Given the description of an element on the screen output the (x, y) to click on. 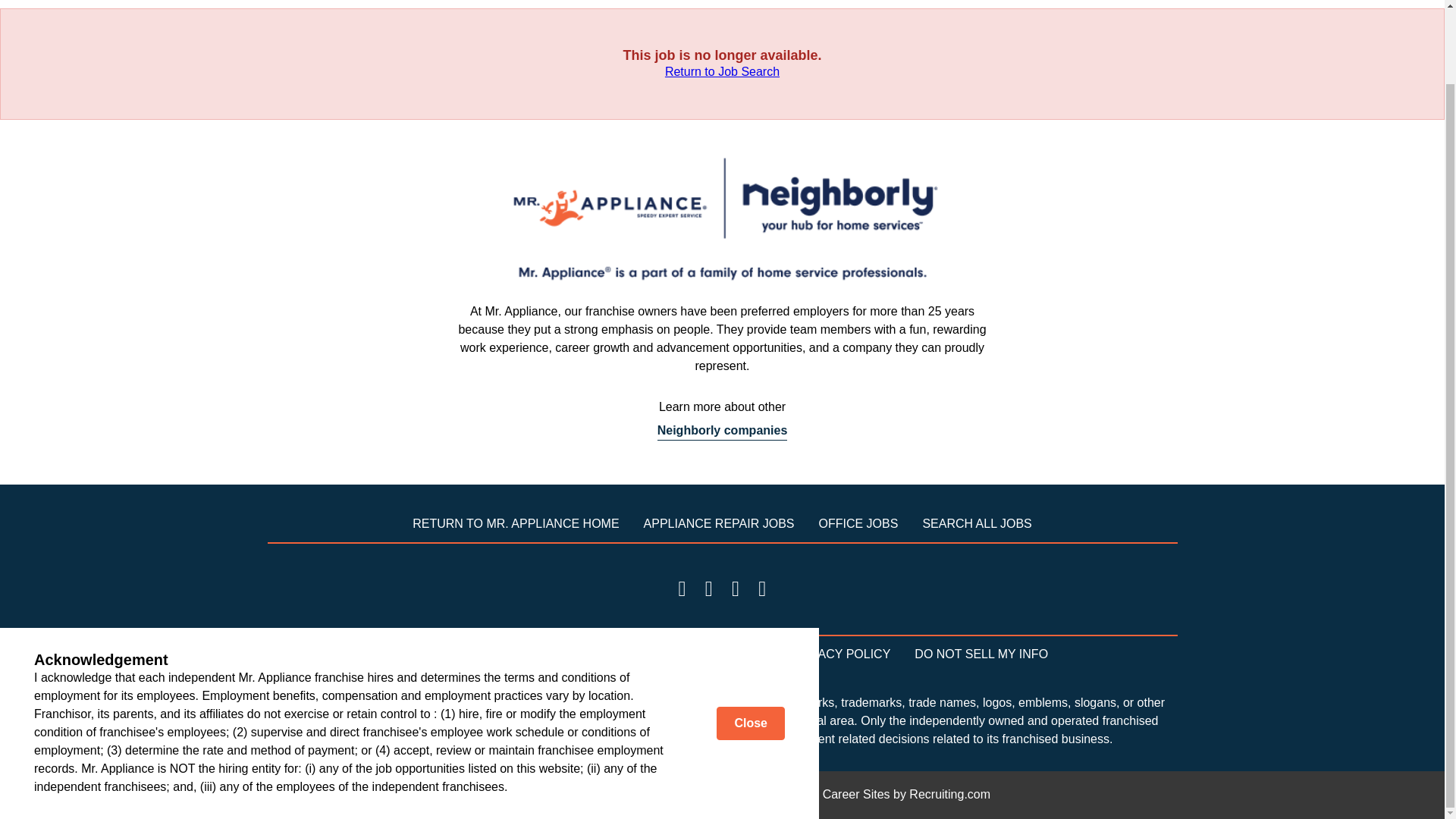
APPLIANCE REPAIR JOBS (718, 522)
Close (750, 640)
Neighborly companies (722, 430)
PRIVACY POLICY (839, 653)
TERMS OF USE (441, 653)
RETURN TO MR. APPLIANCE HOME (515, 522)
ACCESSIBILITY (720, 653)
OFFICE JOBS (858, 522)
SEARCH ALL JOBS (975, 522)
YOUR PRIVACY RIGHTS (581, 653)
DO NOT SELL MY INFO (981, 653)
Return to Job Search (721, 71)
